Given the description of an element on the screen output the (x, y) to click on. 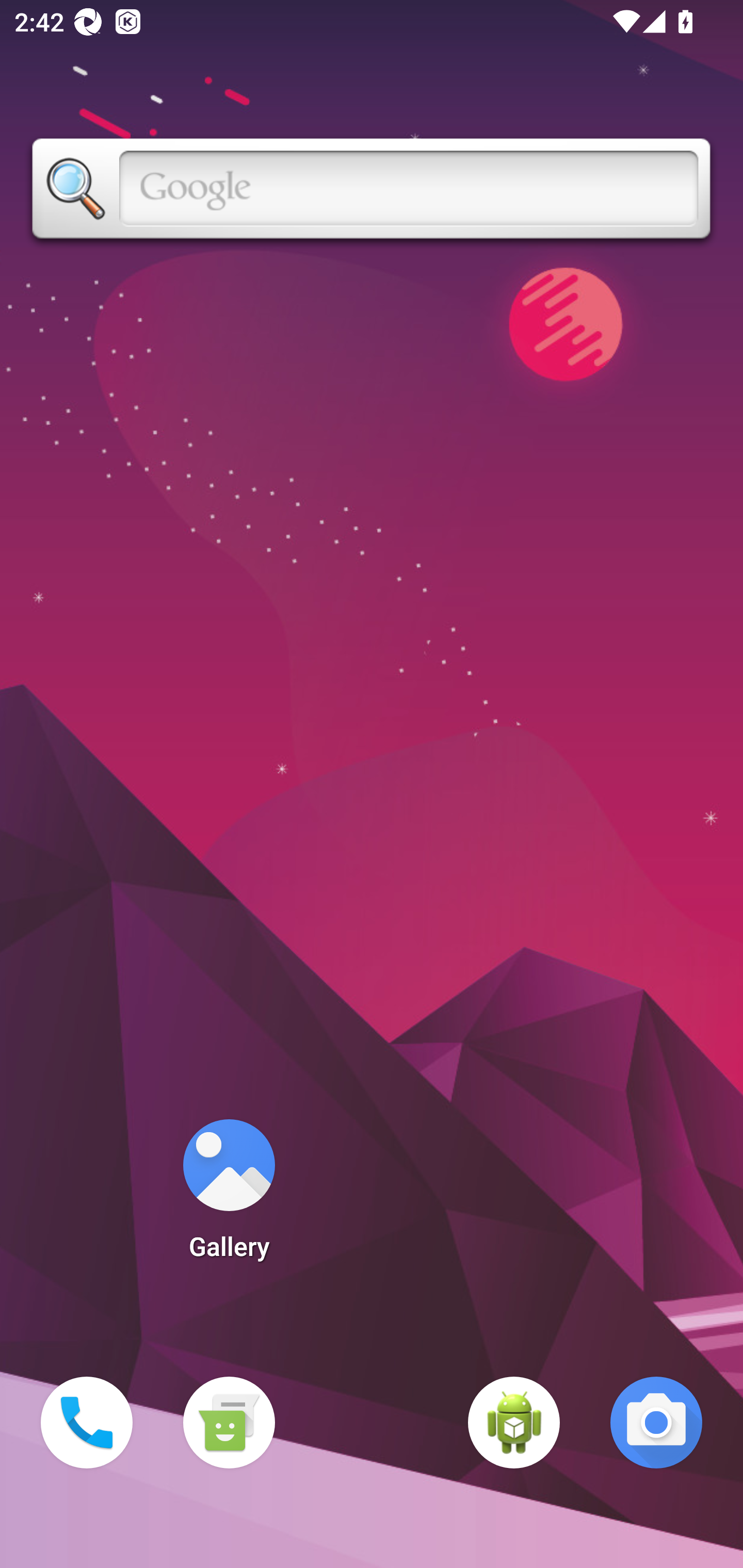
Gallery (228, 1195)
Phone (86, 1422)
Messaging (228, 1422)
WebView Browser Tester (513, 1422)
Camera (656, 1422)
